Given the description of an element on the screen output the (x, y) to click on. 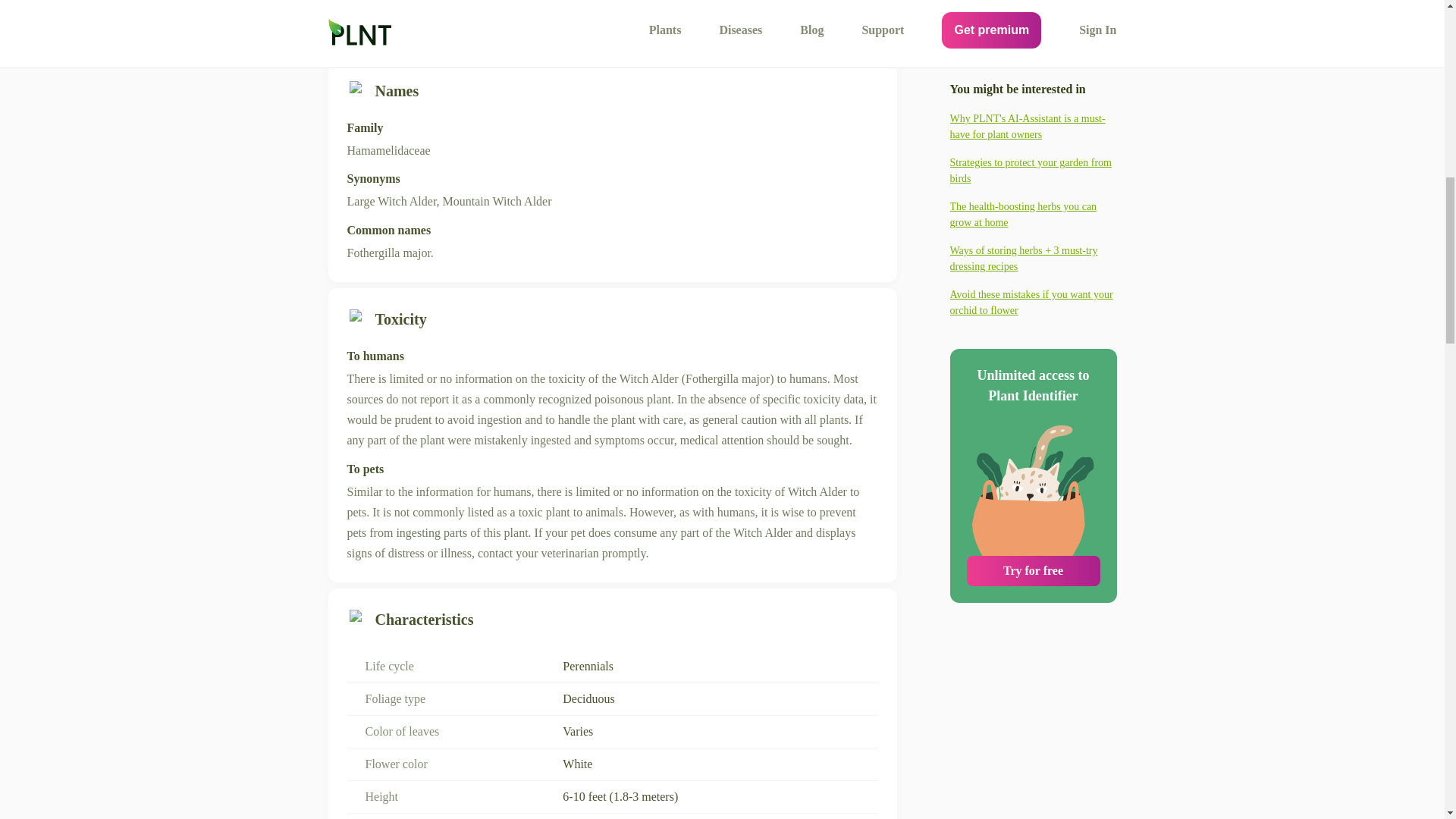
Avoid these mistakes if you want your orchid to flower (1032, 156)
Strategies to protect your garden from birds (1032, 24)
The health-boosting herbs you can grow at home (1032, 69)
Try for free (1032, 425)
